Given the description of an element on the screen output the (x, y) to click on. 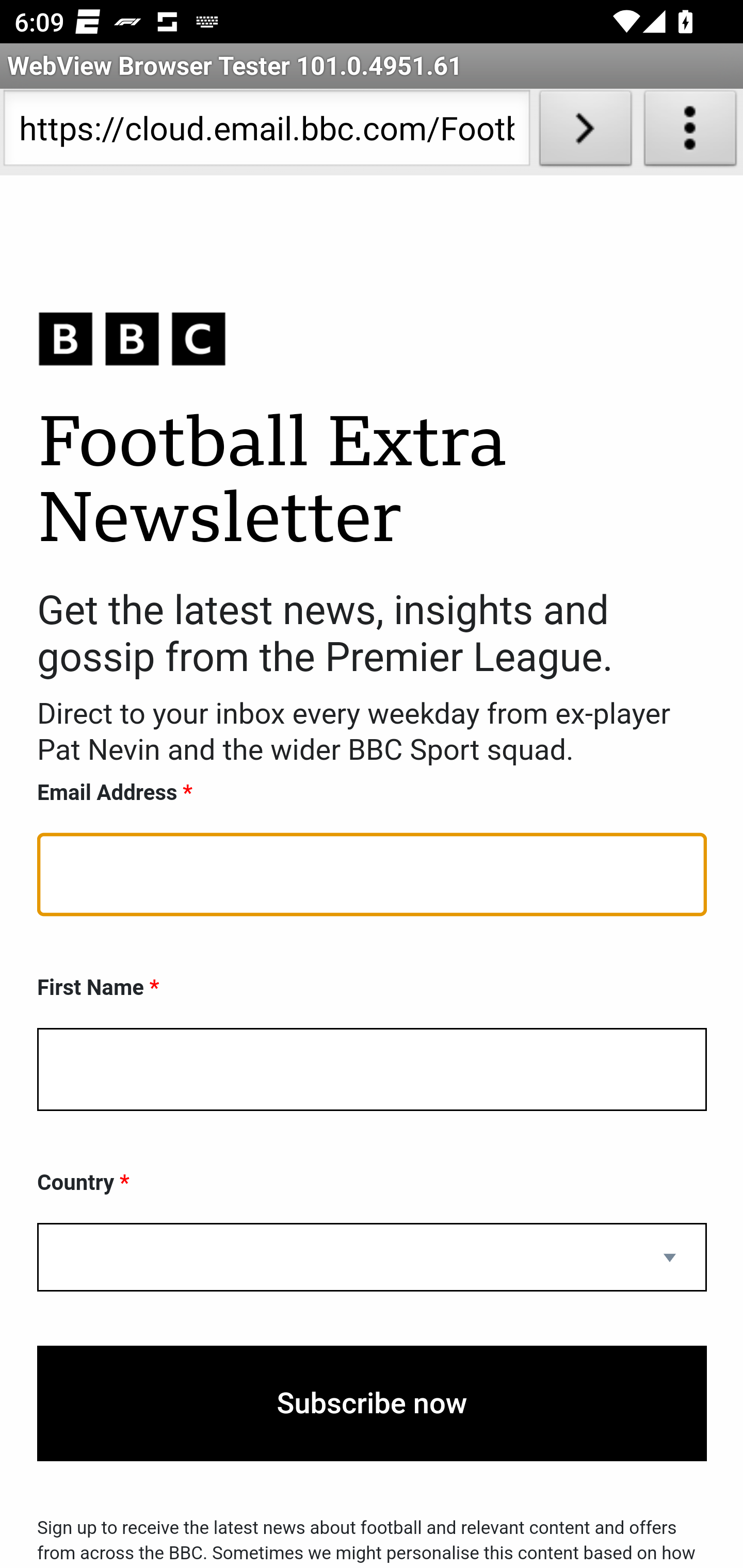
Load URL (585, 132)
About WebView (690, 132)
BBC (372, 338)
Subscribe now (372, 1403)
